Given the description of an element on the screen output the (x, y) to click on. 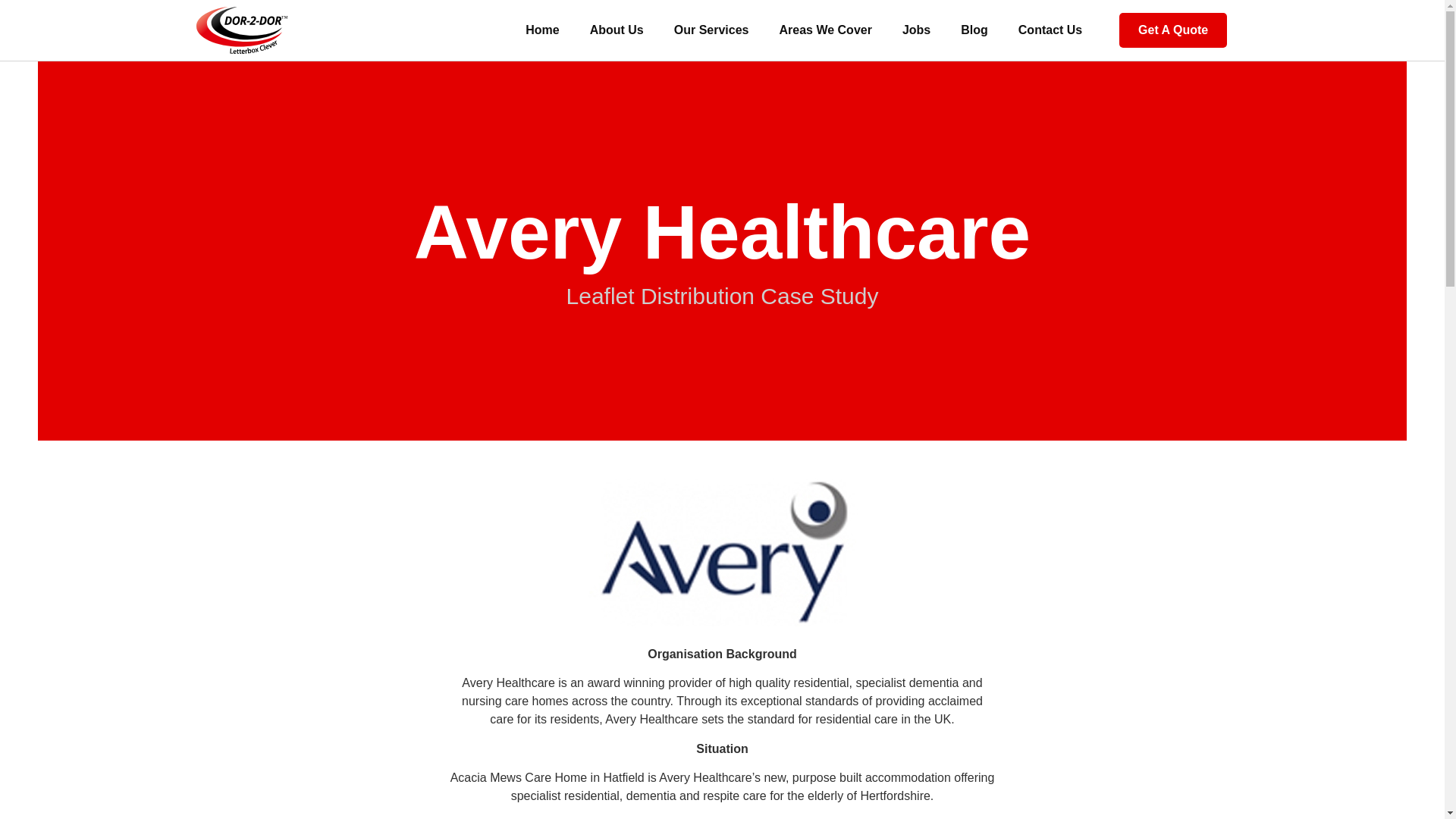
Home (542, 30)
Our Services (711, 30)
Blog (973, 30)
Jobs (915, 30)
About Us (617, 30)
Areas We Cover (824, 30)
Contact Us (1050, 30)
